Given the description of an element on the screen output the (x, y) to click on. 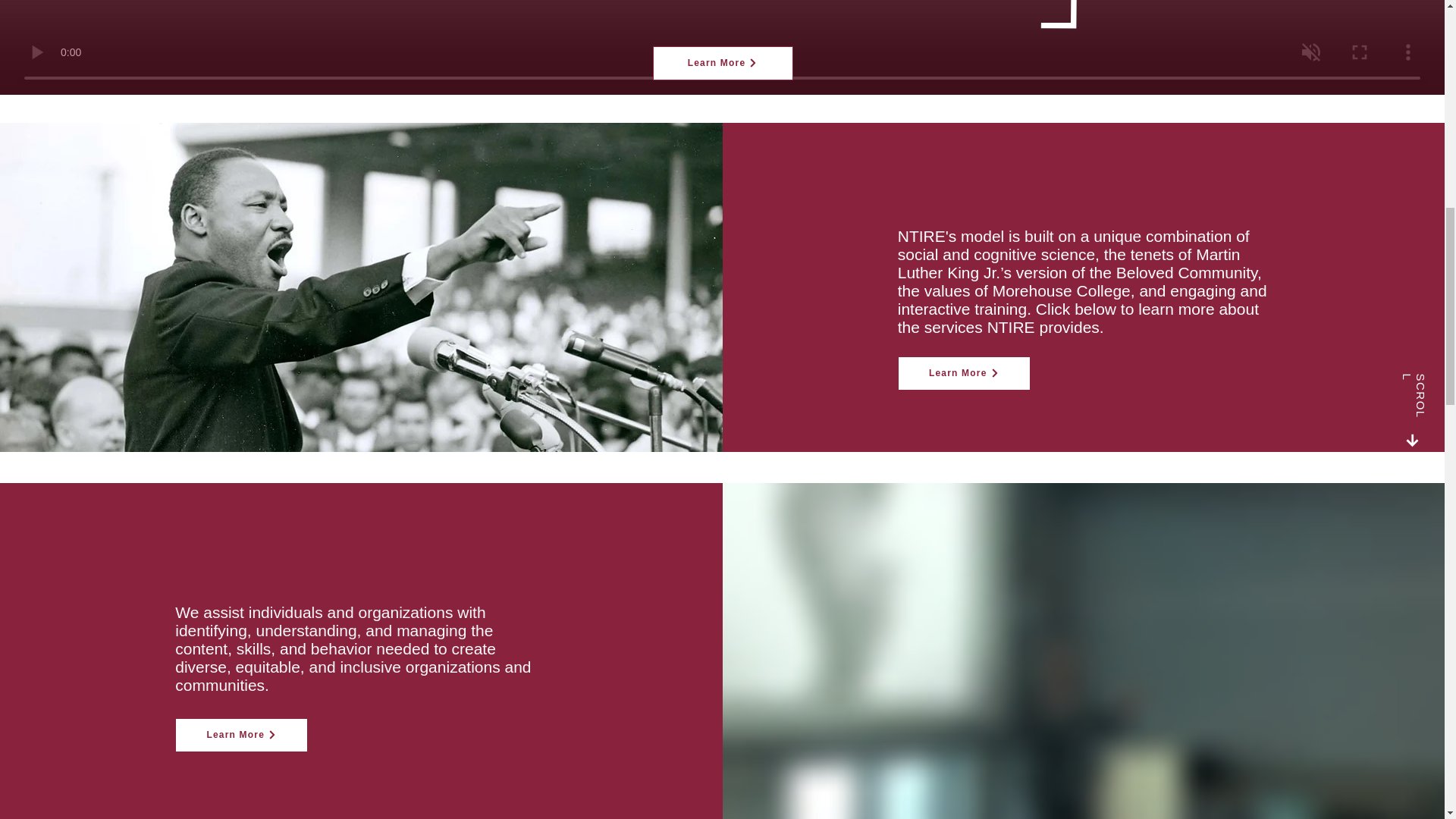
Learn More (240, 735)
Learn More (722, 62)
Learn More (964, 373)
